Given the description of an element on the screen output the (x, y) to click on. 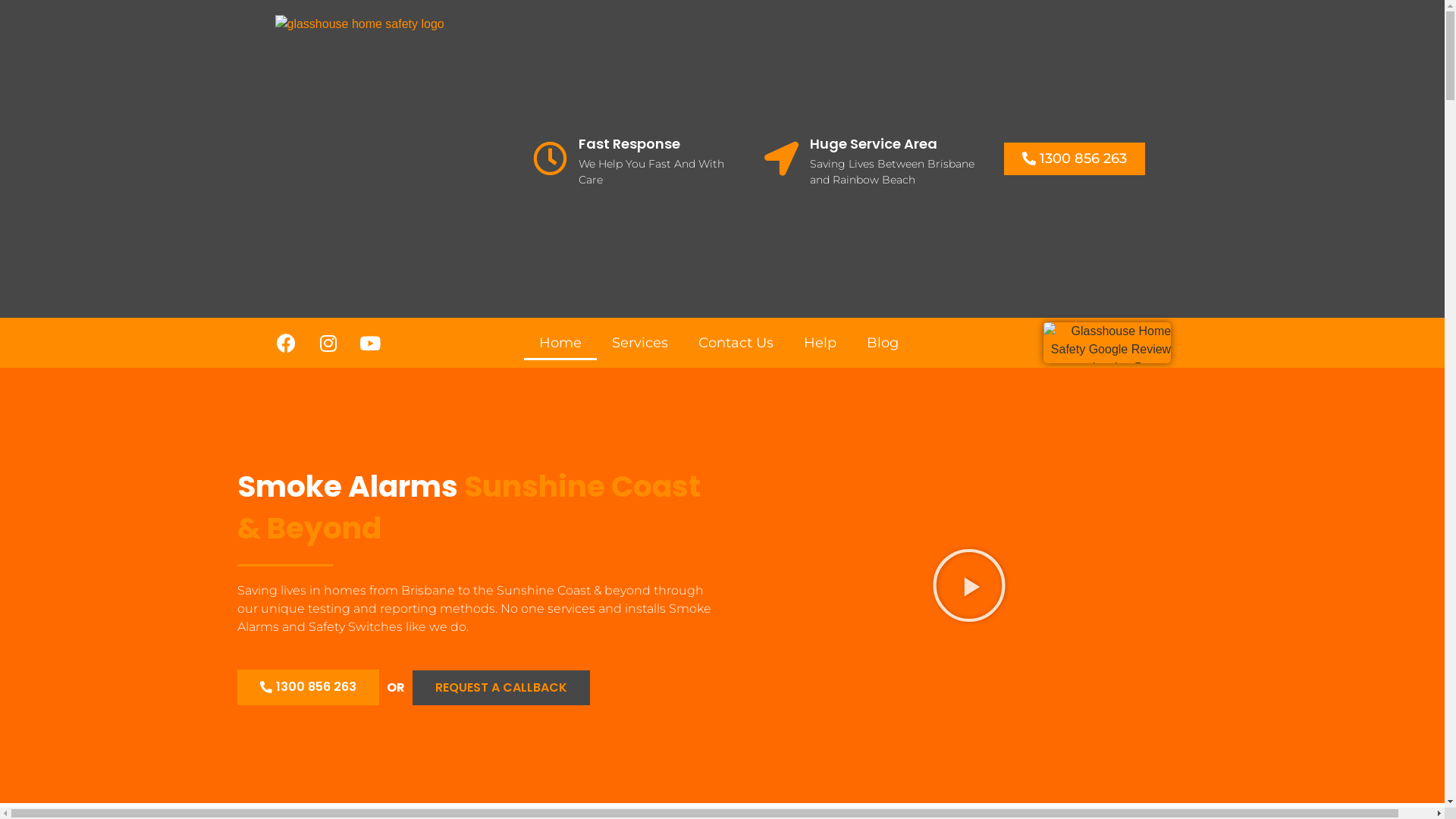
1300 856 263 Element type: text (1074, 158)
Blog Element type: text (882, 342)
Services Element type: text (639, 342)
REQUEST A CALLBACK Element type: text (500, 687)
Home Element type: text (560, 342)
1300 856 263 Element type: text (307, 687)
Contact Us Element type: text (735, 342)
Help Element type: text (819, 342)
